Given the description of an element on the screen output the (x, y) to click on. 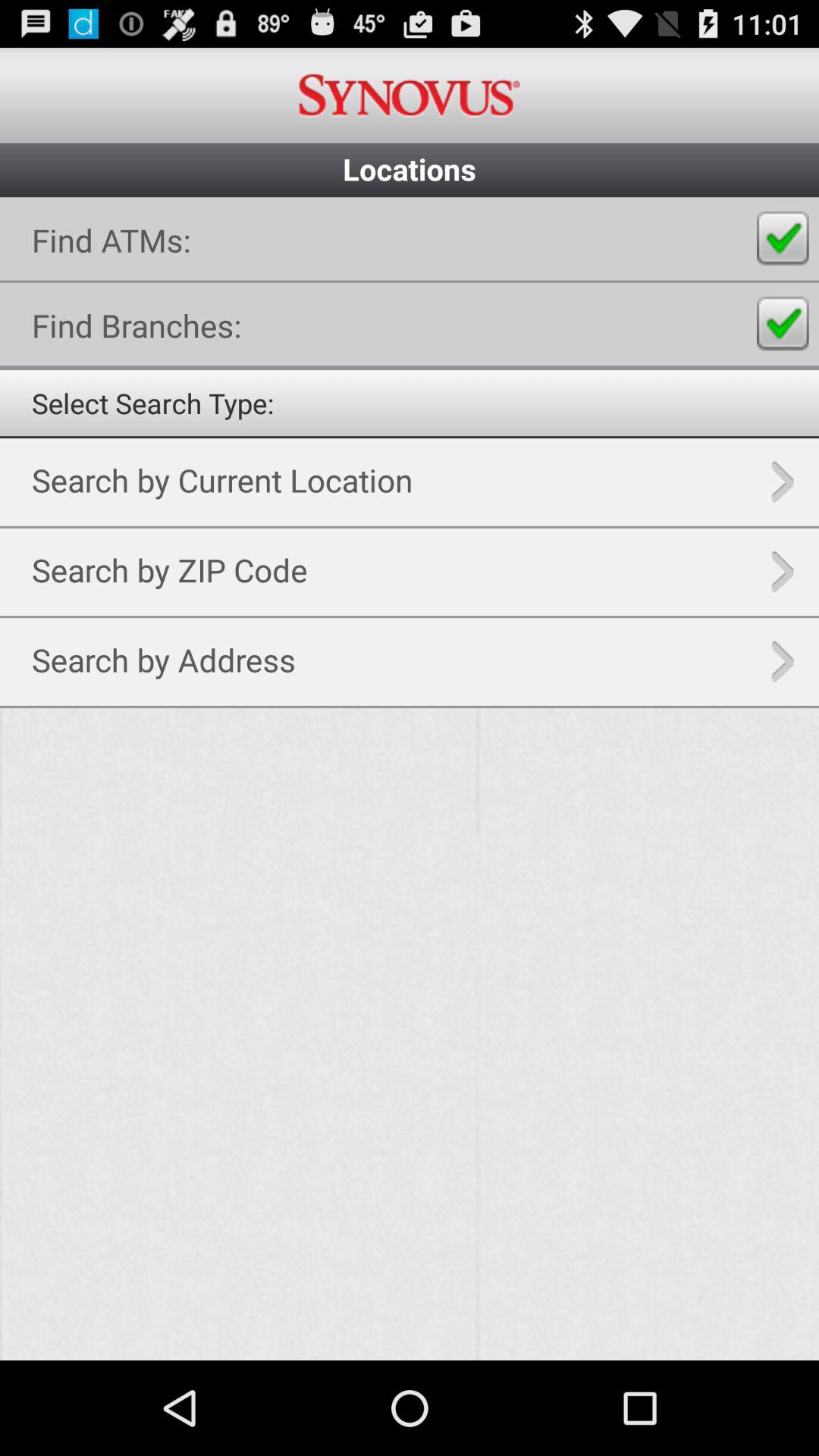
click the icon next to the find branches: app (782, 323)
